Given the description of an element on the screen output the (x, y) to click on. 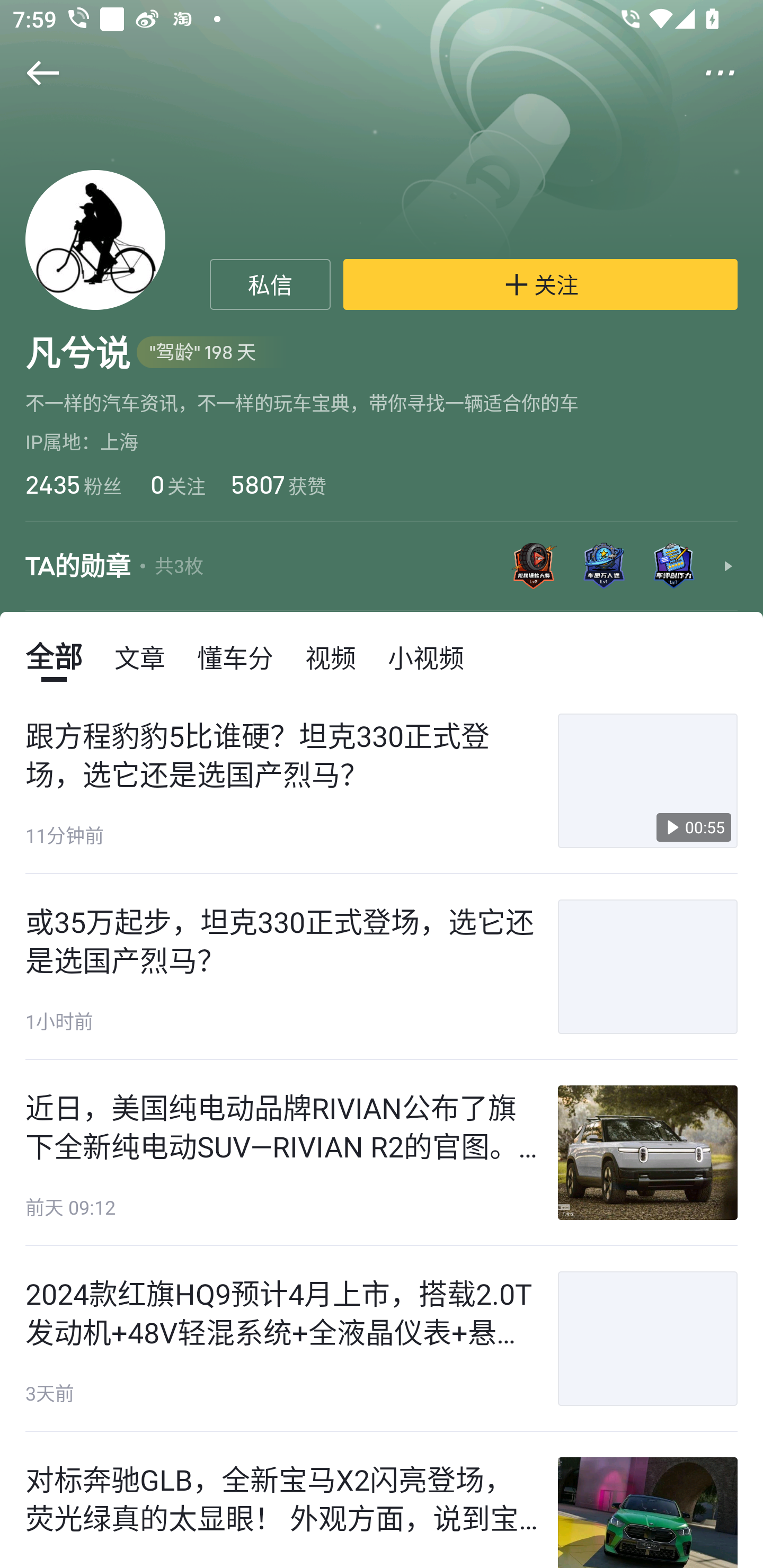
 (30, 72)
 (732, 72)
私信 (269, 284)
 关注 (540, 284)
"驾龄" 198 天 (211, 352)
2435 粉丝 (73, 484)
0 关注 (176, 484)
5807 获赞 (278, 484)
TA的勋章 共3枚  (381, 566)
全部 (53, 656)
文章 (139, 656)
懂车分 (234, 656)
视频 (330, 656)
小视频 (425, 656)
跟方程豹豹5比谁硬？坦克330正式登场，选它还是选国产烈马？ 11分钟前  00:55 (381, 780)
或35万起步，坦克330正式登场，选它还是选国产烈马？ 1小时前 (381, 966)
